Given the description of an element on the screen output the (x, y) to click on. 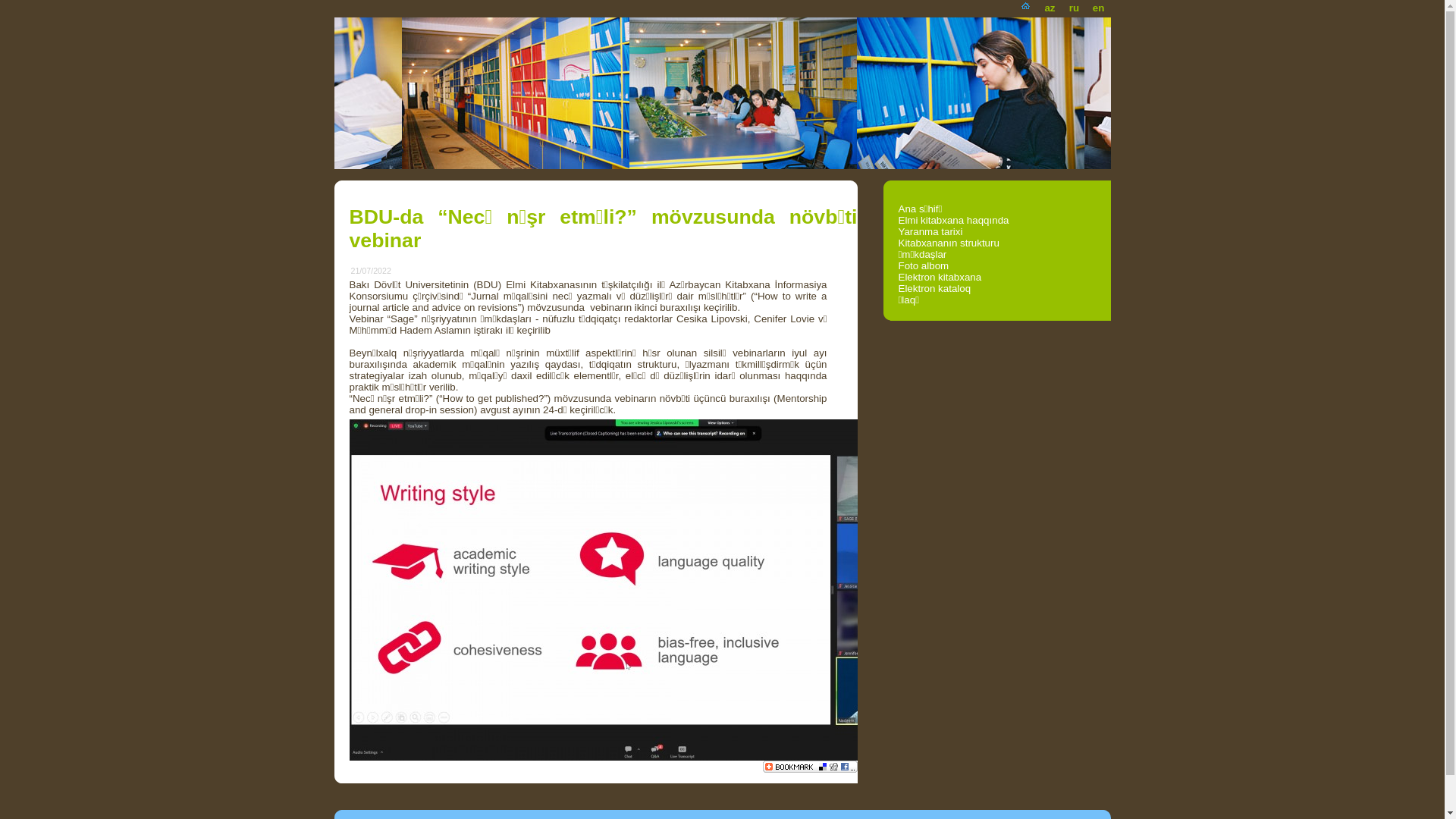
Foto albom Element type: text (922, 265)
Yaranma tarixi Element type: text (929, 231)
az Element type: text (1049, 4)
en Element type: text (1097, 4)
Elektron kitabxana Element type: text (939, 276)
ru Element type: text (1073, 4)
Elektron kataloq Element type: text (933, 288)
